Given the description of an element on the screen output the (x, y) to click on. 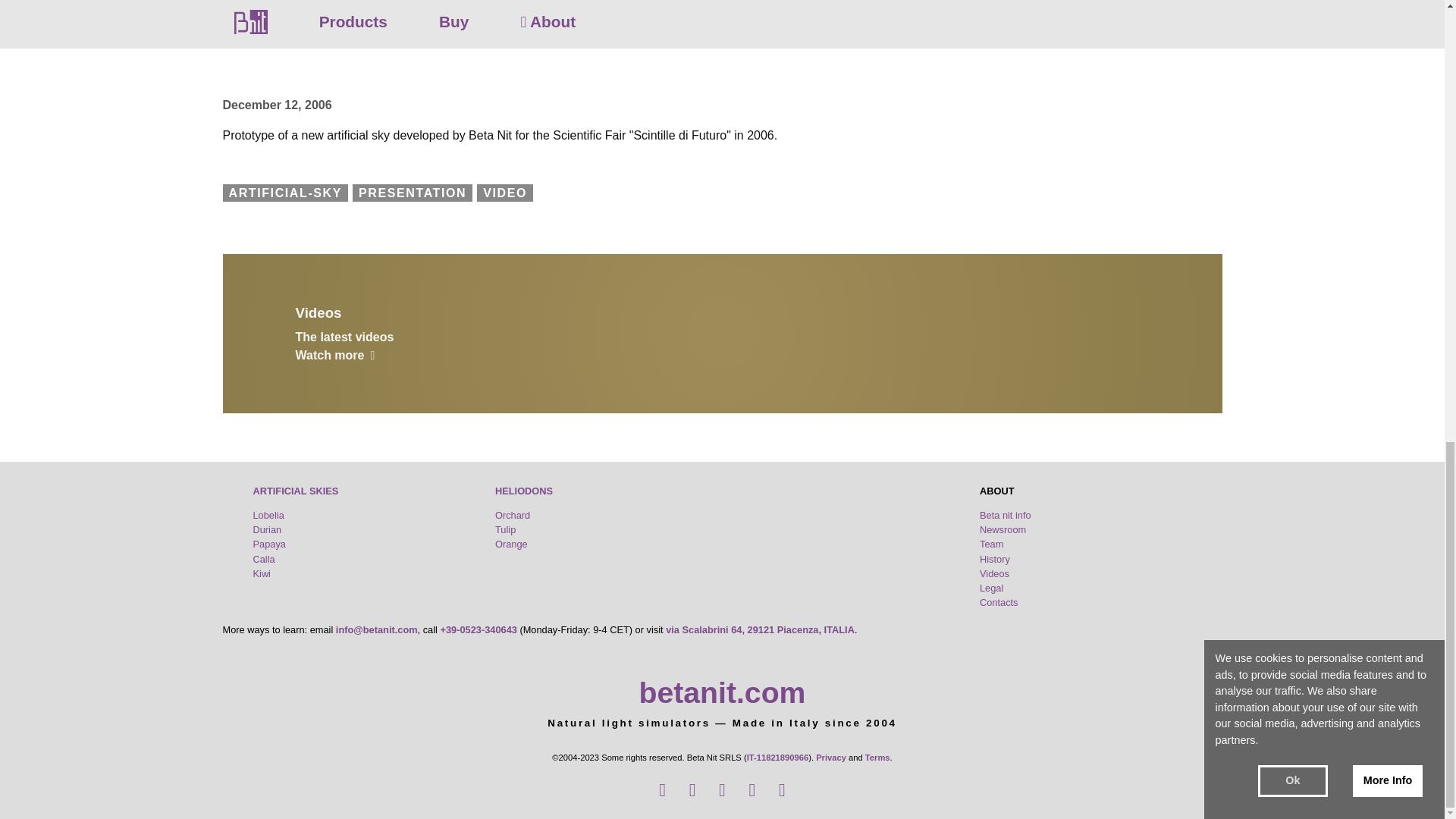
Orange (511, 543)
The latest videos (722, 345)
Videos (722, 315)
Tulip (505, 529)
Calla (264, 559)
ARTIFICIAL SKIES (296, 490)
VIDEO (505, 192)
Durian (267, 529)
Beta nit info (1004, 514)
Orchard (512, 514)
Papaya (269, 543)
PRESENTATION (411, 192)
ARTIFICIAL-SKY (285, 192)
Newsroom (1002, 529)
Kiwi (261, 573)
